Given the description of an element on the screen output the (x, y) to click on. 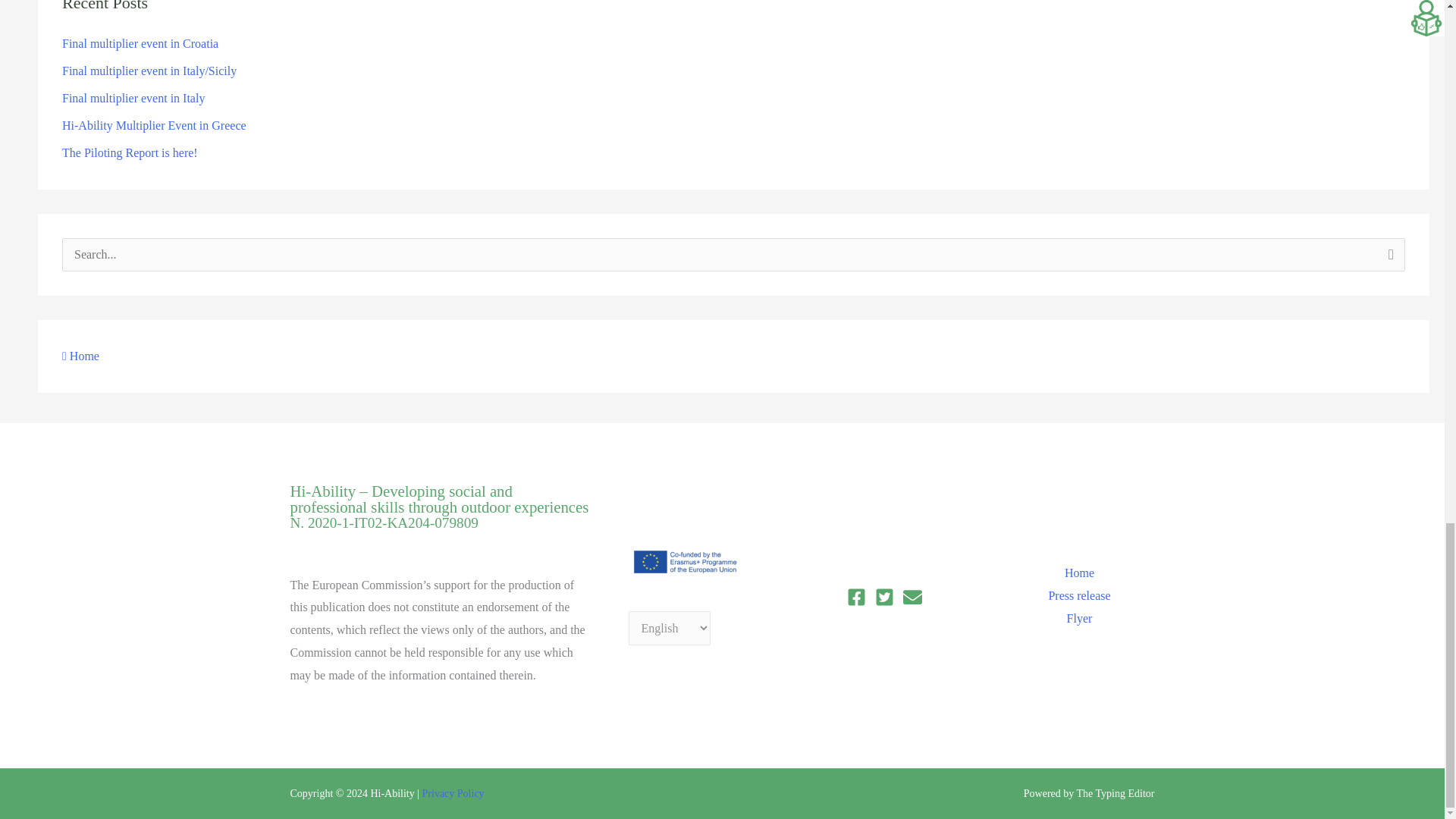
Hi-Ability Multiplier Event in Greece (154, 124)
The Piloting Report is here! (130, 152)
Home (80, 355)
Final multiplier event in Italy (133, 97)
Final multiplier event in Croatia (140, 42)
